Given the description of an element on the screen output the (x, y) to click on. 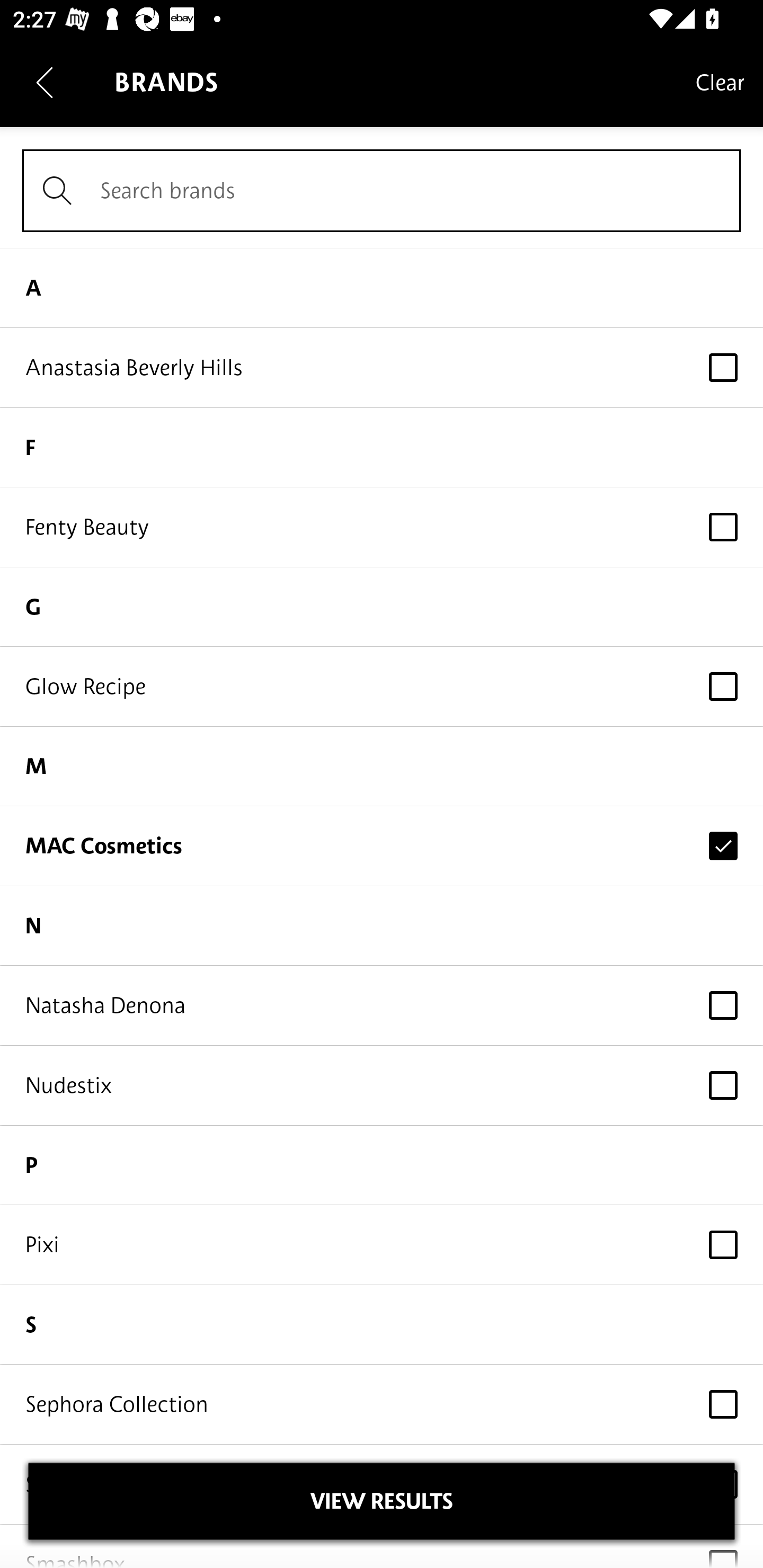
Navigate up (44, 82)
Clear (719, 81)
Search brands (381, 190)
A (381, 287)
Anastasia Beverly Hills (381, 367)
F (381, 446)
Fenty Beauty (381, 526)
G (381, 606)
Glow Recipe (381, 685)
M (381, 766)
MAC Cosmetics (381, 845)
N (381, 925)
Natasha Denona (381, 1005)
Nudestix (381, 1085)
P (381, 1164)
Pixi (381, 1244)
S (381, 1324)
Sephora Collection (381, 1404)
CLOSE (381, 1501)
